Given the description of an element on the screen output the (x, y) to click on. 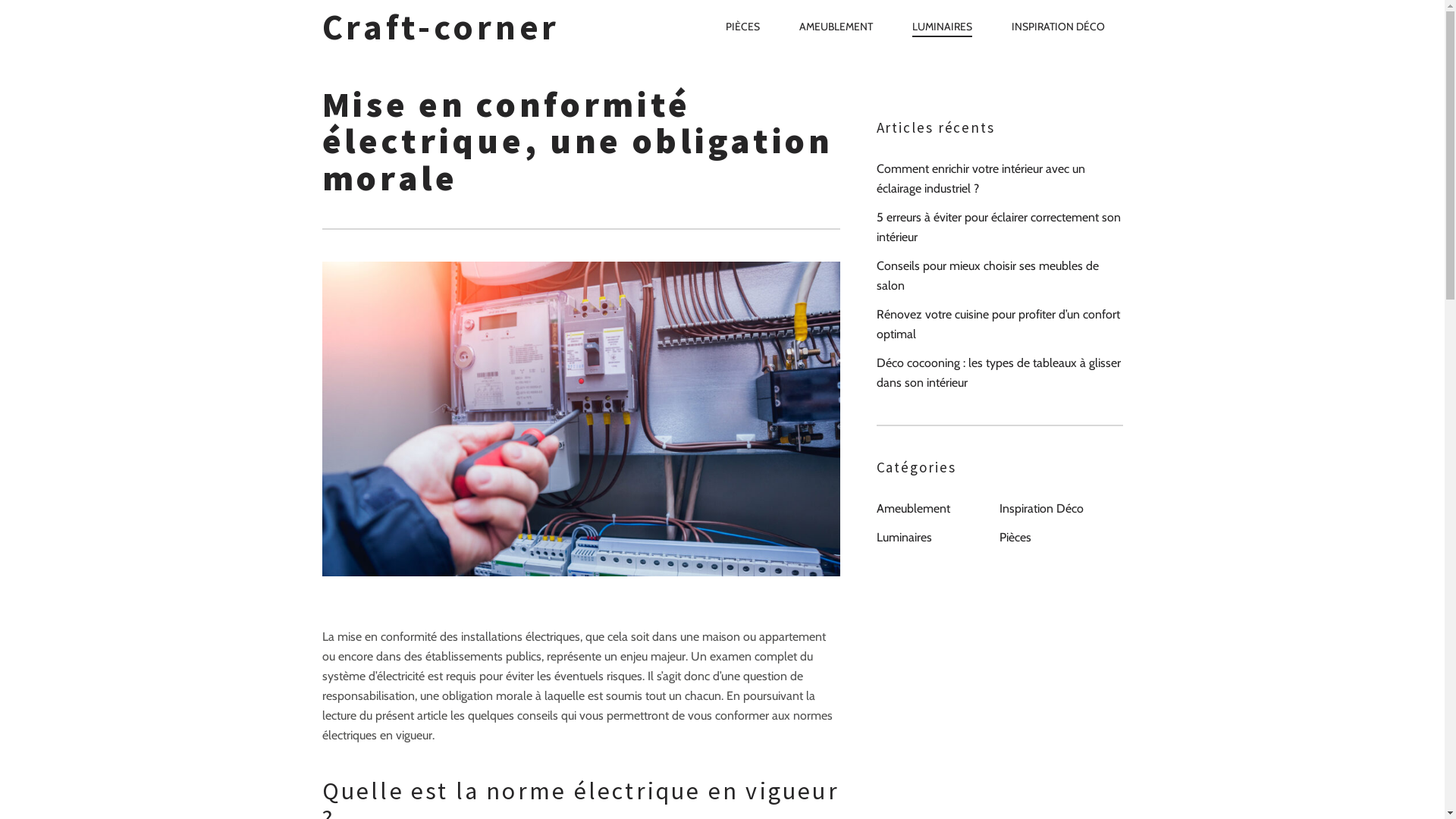
Ameublement Element type: text (913, 508)
AMEUBLEMENT Element type: text (836, 26)
LUMINAIRES Element type: text (941, 27)
Conseils pour mieux choisir ses meubles de salon Element type: text (999, 275)
Luminaires Element type: text (903, 537)
Craft-corner Element type: text (466, 27)
